Given the description of an element on the screen output the (x, y) to click on. 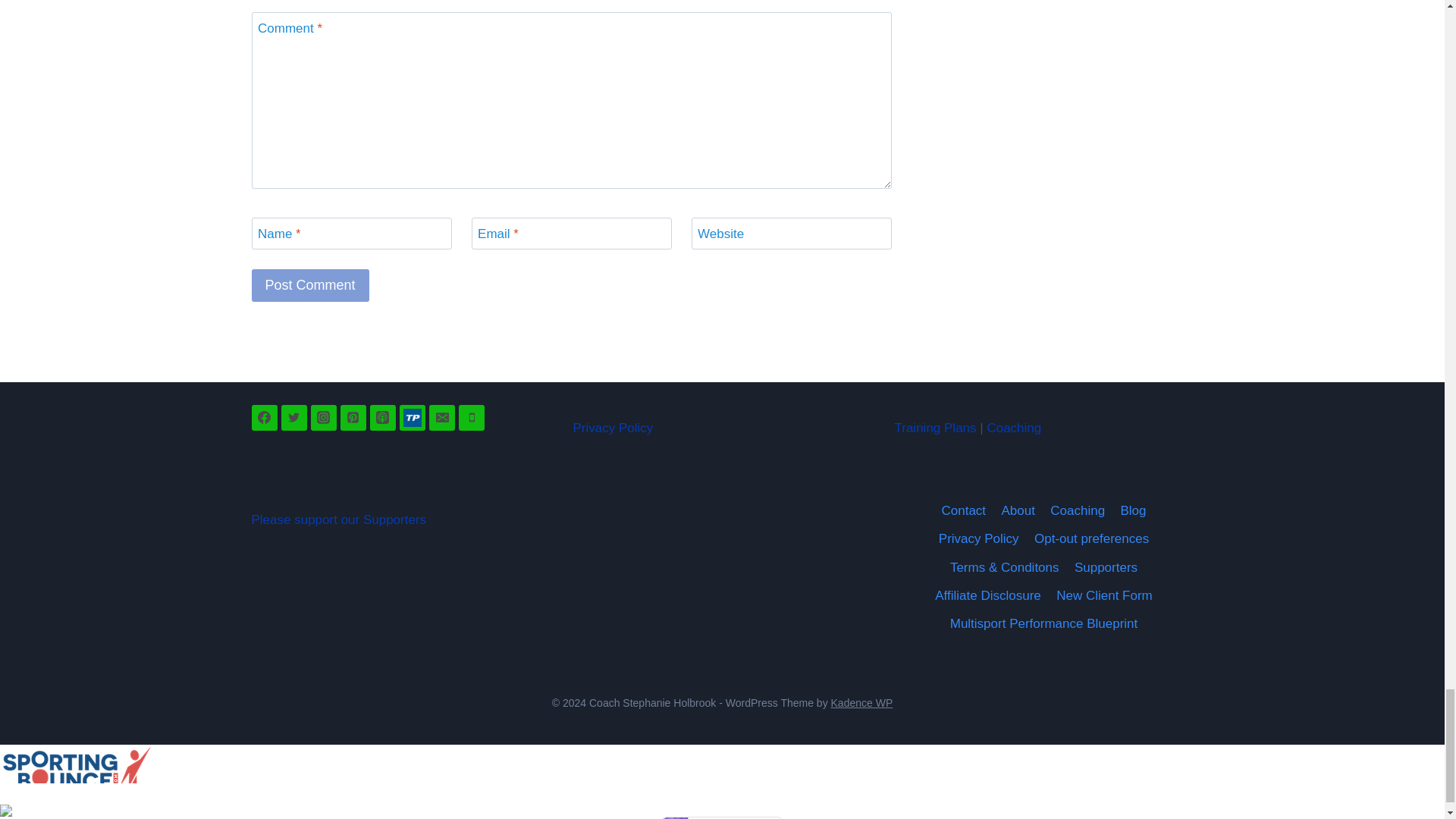
Post Comment (310, 285)
Verified by MonsterInsights (722, 817)
